Given the description of an element on the screen output the (x, y) to click on. 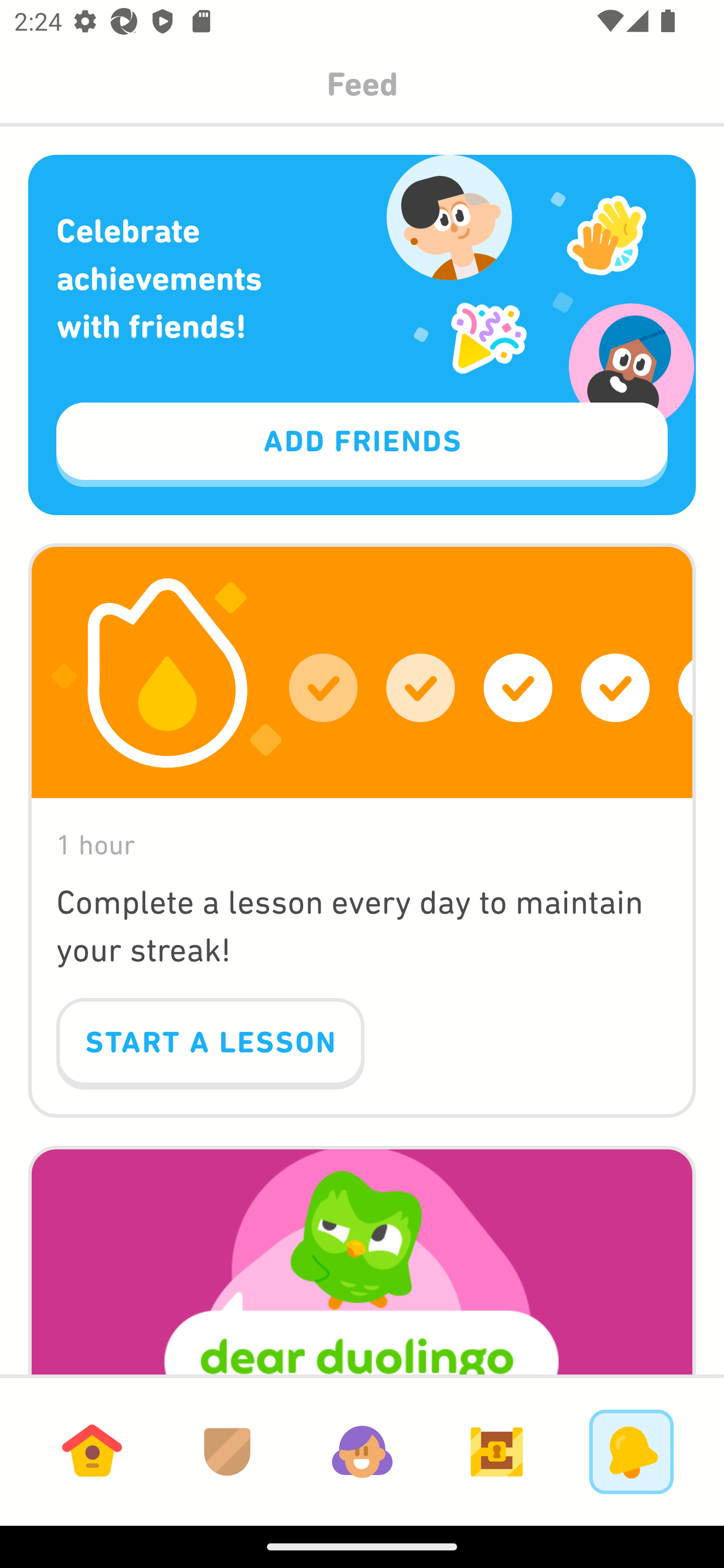
ADD FRIENDS (361, 444)
START A LESSON (210, 1043)
Learn Tab (91, 1451)
Leagues Tab (227, 1451)
Profile Tab (361, 1451)
Goals Tab (496, 1451)
News Tab (631, 1451)
